Given the description of an element on the screen output the (x, y) to click on. 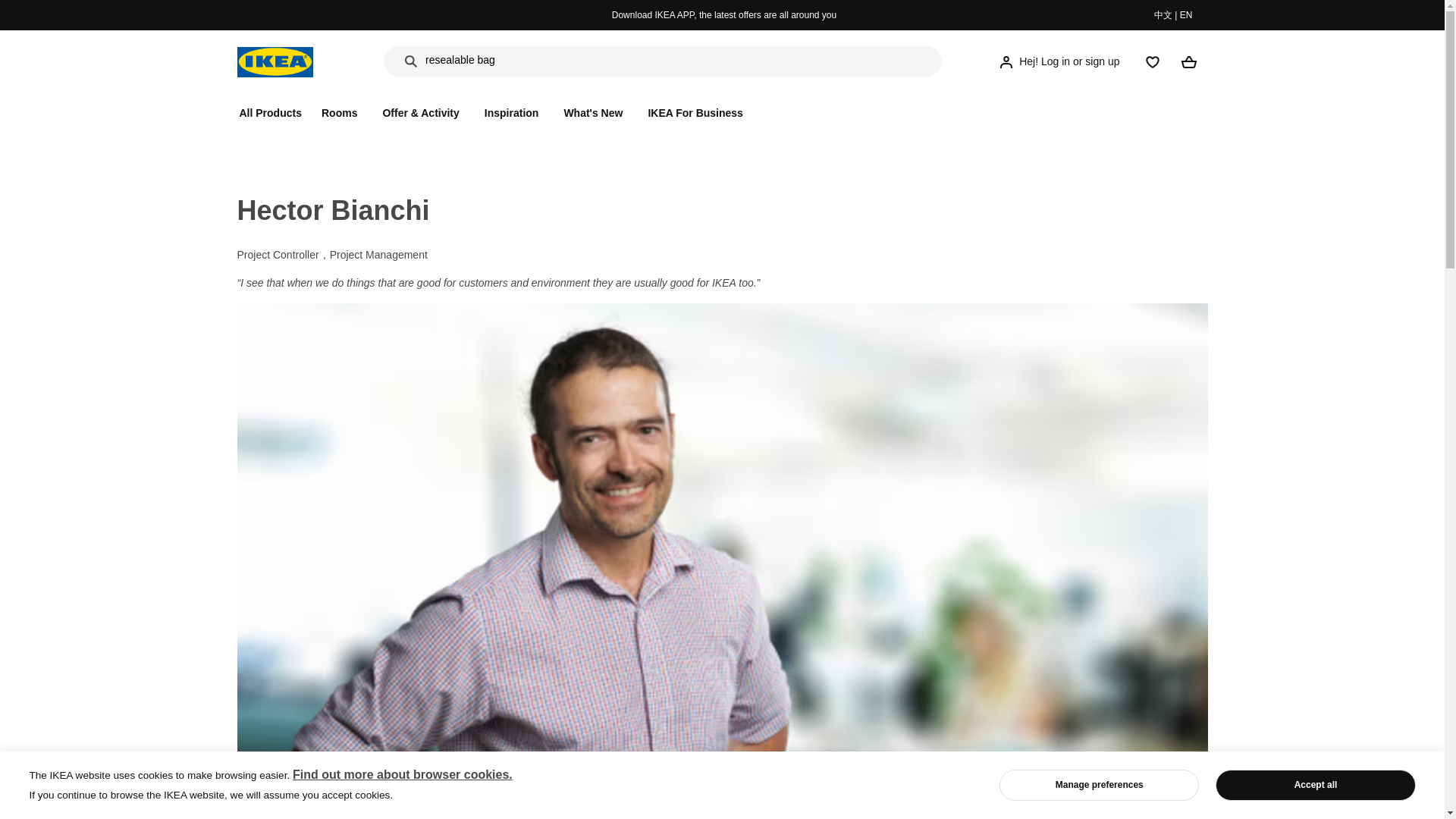
resealable bag (460, 61)
block-out curtain, 1 length (486, 83)
Download IKEA APP, the latest offers are all around you (723, 15)
